Given the description of an element on the screen output the (x, y) to click on. 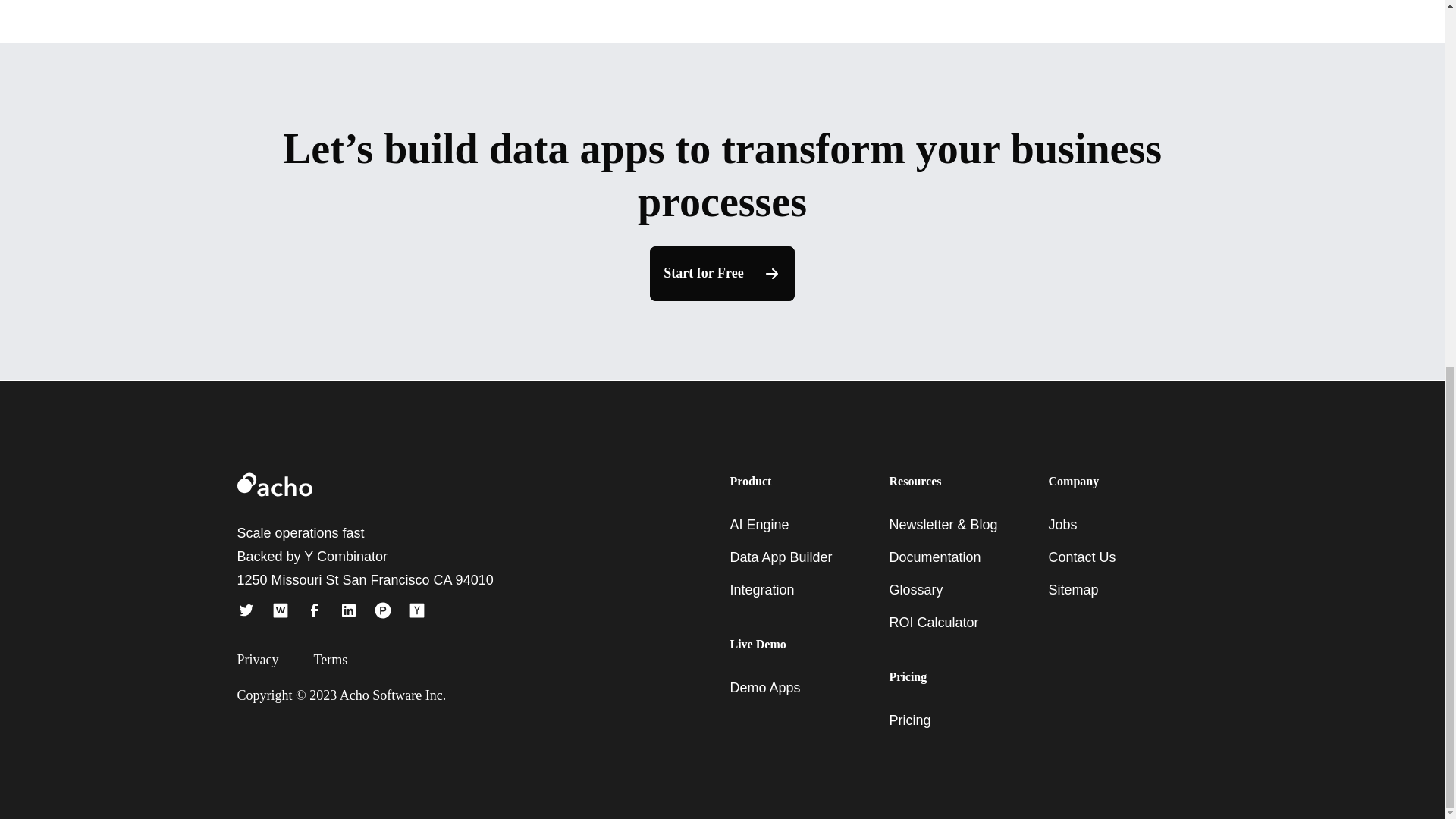
Glossary (915, 589)
Pricing (909, 720)
Documentation (933, 557)
Data App Builder (780, 557)
Terms (344, 660)
Contact Us (1081, 557)
Sitemap (1072, 589)
Privacy (266, 660)
AI Engine (759, 524)
Integration (761, 589)
Jobs (1062, 524)
ROI Calculator (933, 622)
Demo Apps (764, 687)
